Given the description of an element on the screen output the (x, y) to click on. 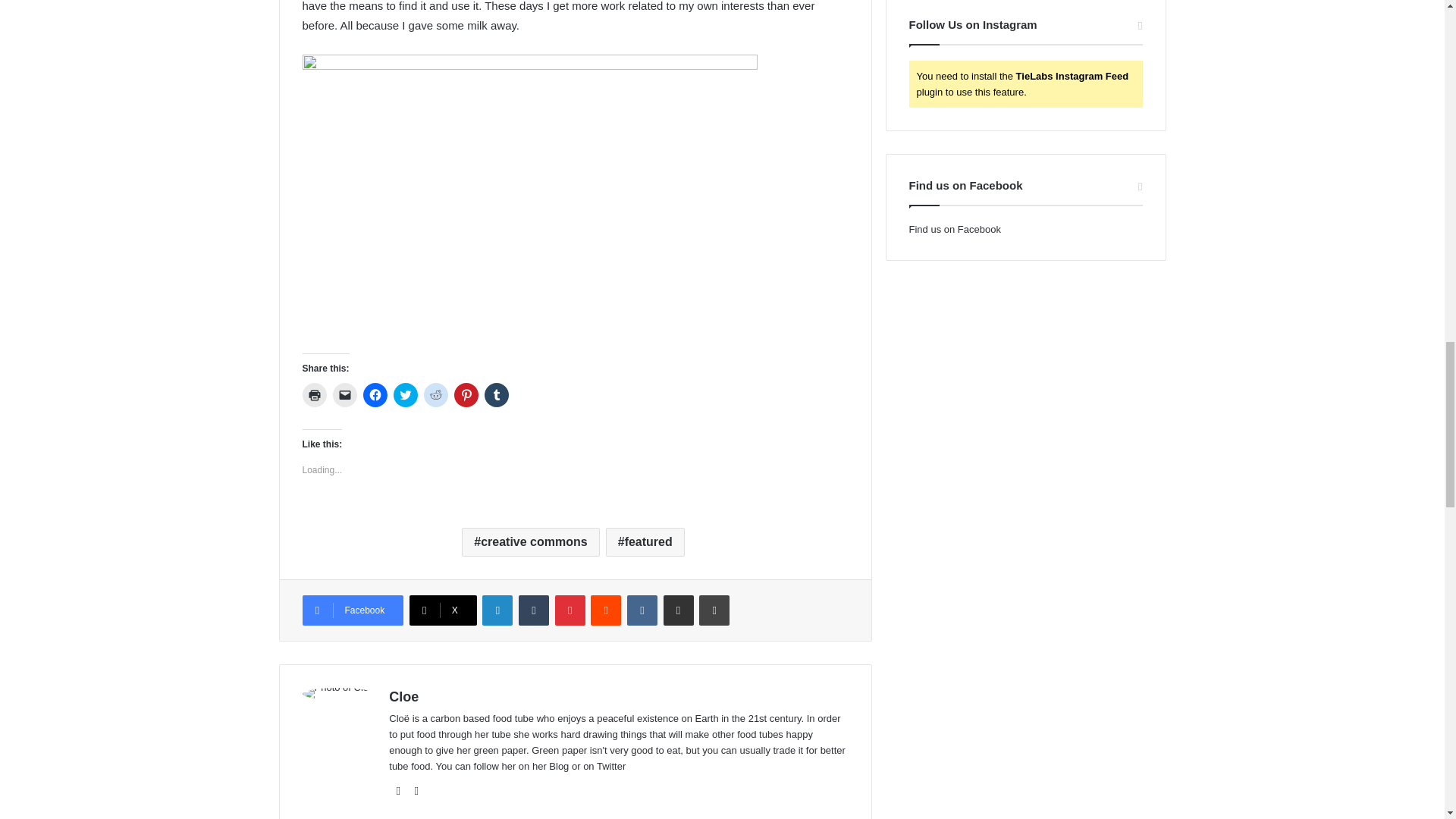
Click to share on Facebook (374, 395)
Click to share on Tumblr (495, 395)
featured (644, 541)
Click to share on Reddit (434, 395)
Click to share on Twitter (404, 395)
Click to print (313, 395)
creative commons (529, 541)
Facebook (352, 610)
Click to share on Pinterest (464, 395)
Click to email a link to a friend (343, 395)
